Given the description of an element on the screen output the (x, y) to click on. 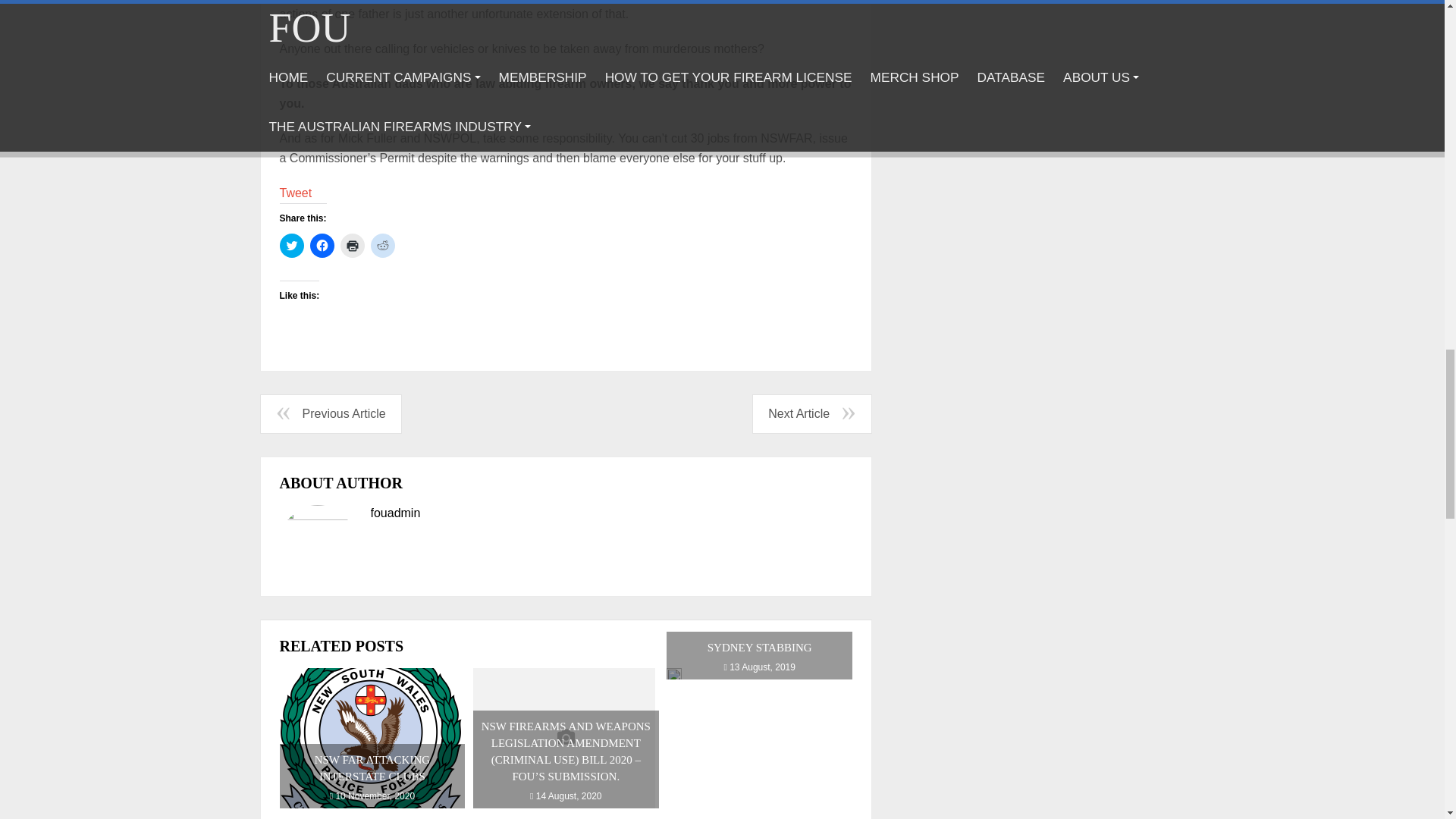
Click to share on Twitter (290, 245)
Tweet (295, 192)
Click to share on Facebook (320, 245)
Click to share on Reddit (381, 245)
Click to print (351, 245)
